Given the description of an element on the screen output the (x, y) to click on. 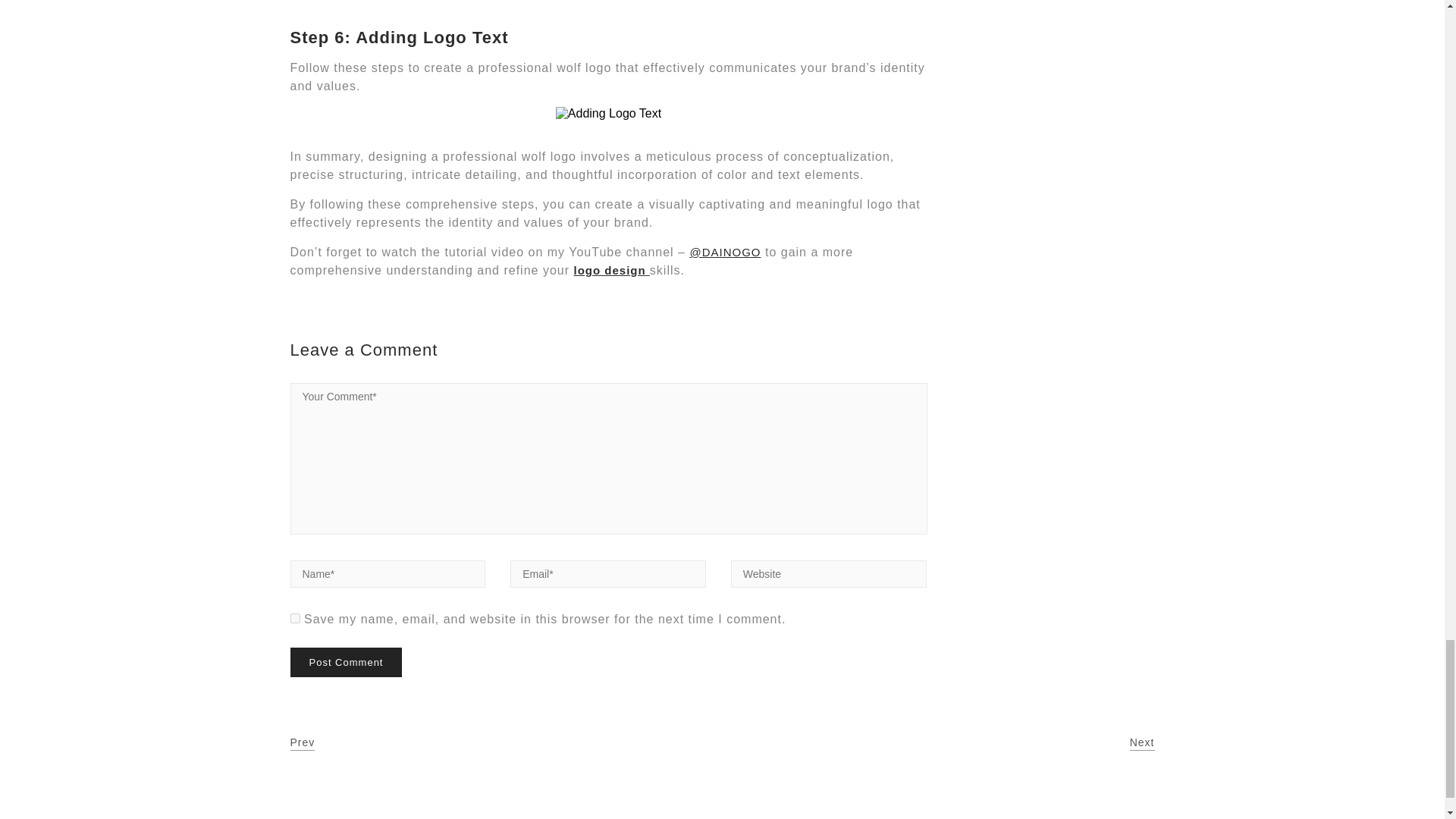
Next (1141, 743)
Post Comment (345, 662)
logo design (611, 269)
Prev (301, 743)
Post Comment (345, 662)
yes (294, 618)
